Given the description of an element on the screen output the (x, y) to click on. 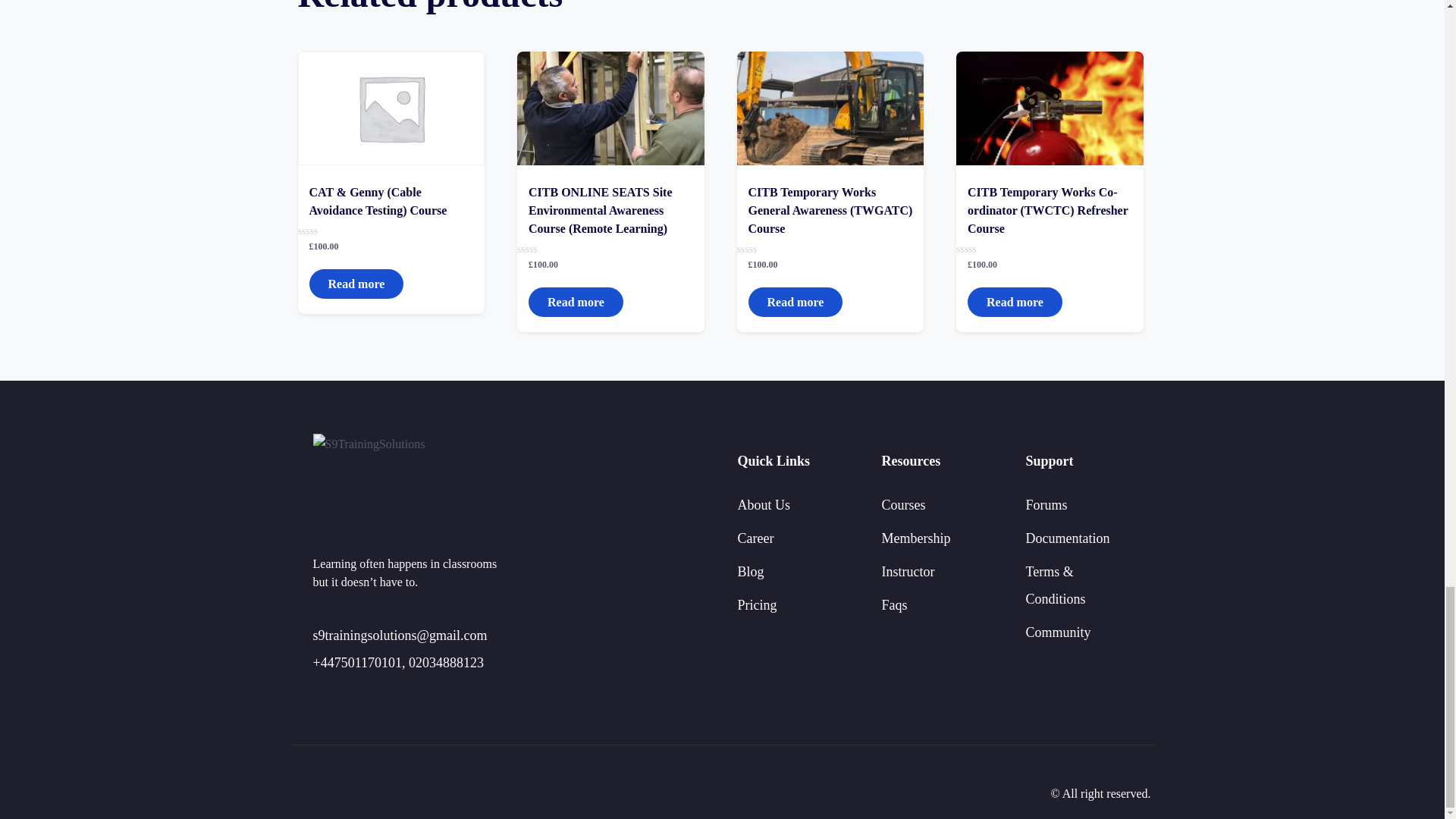
Membership (915, 538)
Read more (575, 301)
Read more (1015, 301)
Read more (795, 301)
Read more (356, 283)
Blog (749, 571)
Courses (902, 504)
Career (754, 538)
Pricing (756, 604)
About Us (763, 504)
